Given the description of an element on the screen output the (x, y) to click on. 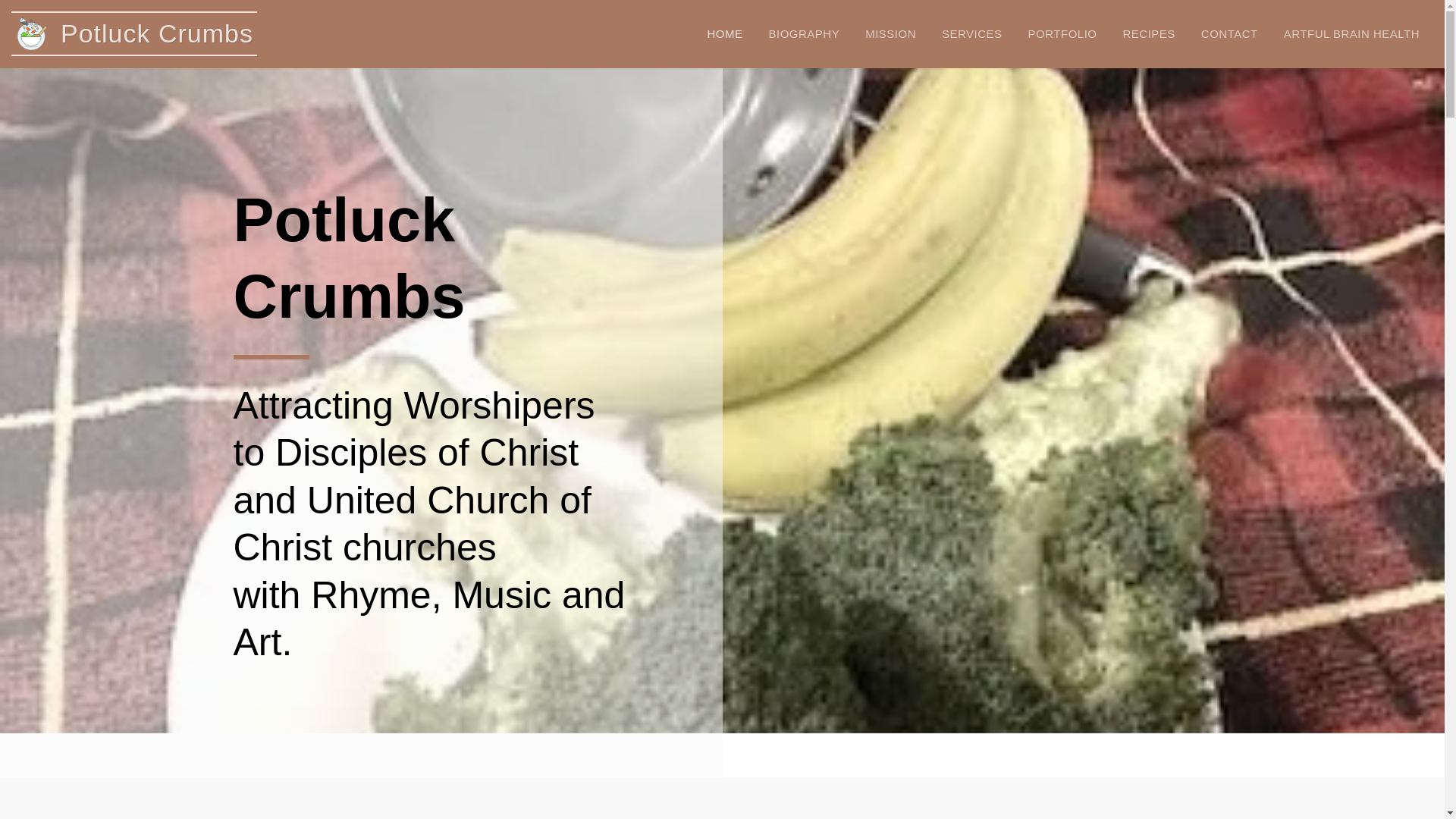
Potluck Crumbs (135, 33)
CONTACT (1229, 33)
RECIPES (1148, 33)
SERVICES (971, 33)
CONTACT (1229, 33)
MISSION (890, 33)
MISSION (890, 33)
ARTFUL BRAIN HEALTH (1351, 33)
PORTFOLIO (1062, 33)
Potluck Crumbs (135, 33)
BIOGRAPHY (803, 33)
HOME (724, 33)
PORTFOLIO (1062, 33)
RECIPES (1148, 33)
SERVICES (971, 33)
